Given the description of an element on the screen output the (x, y) to click on. 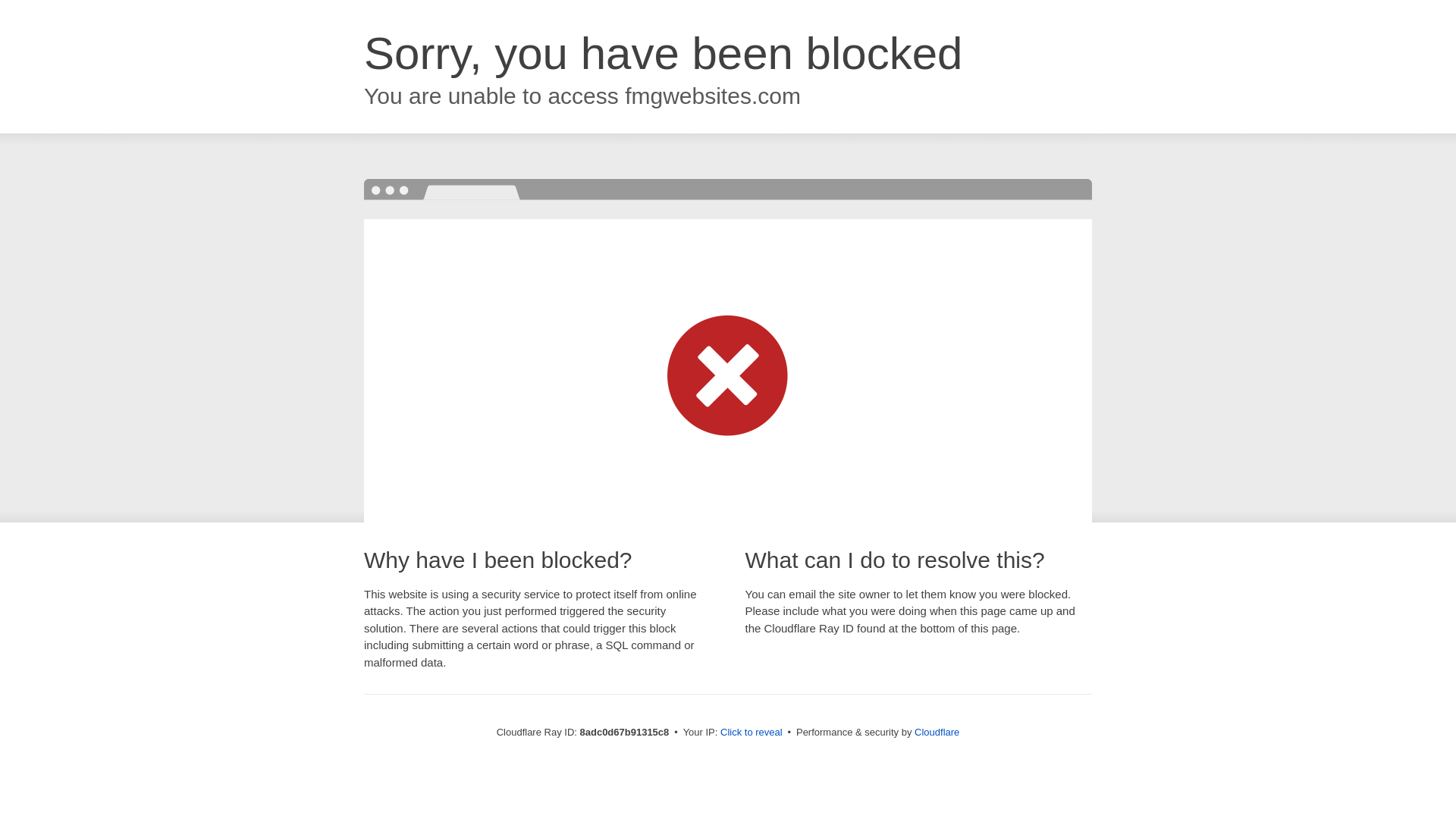
Click to reveal (751, 732)
Cloudflare (936, 731)
